Given the description of an element on the screen output the (x, y) to click on. 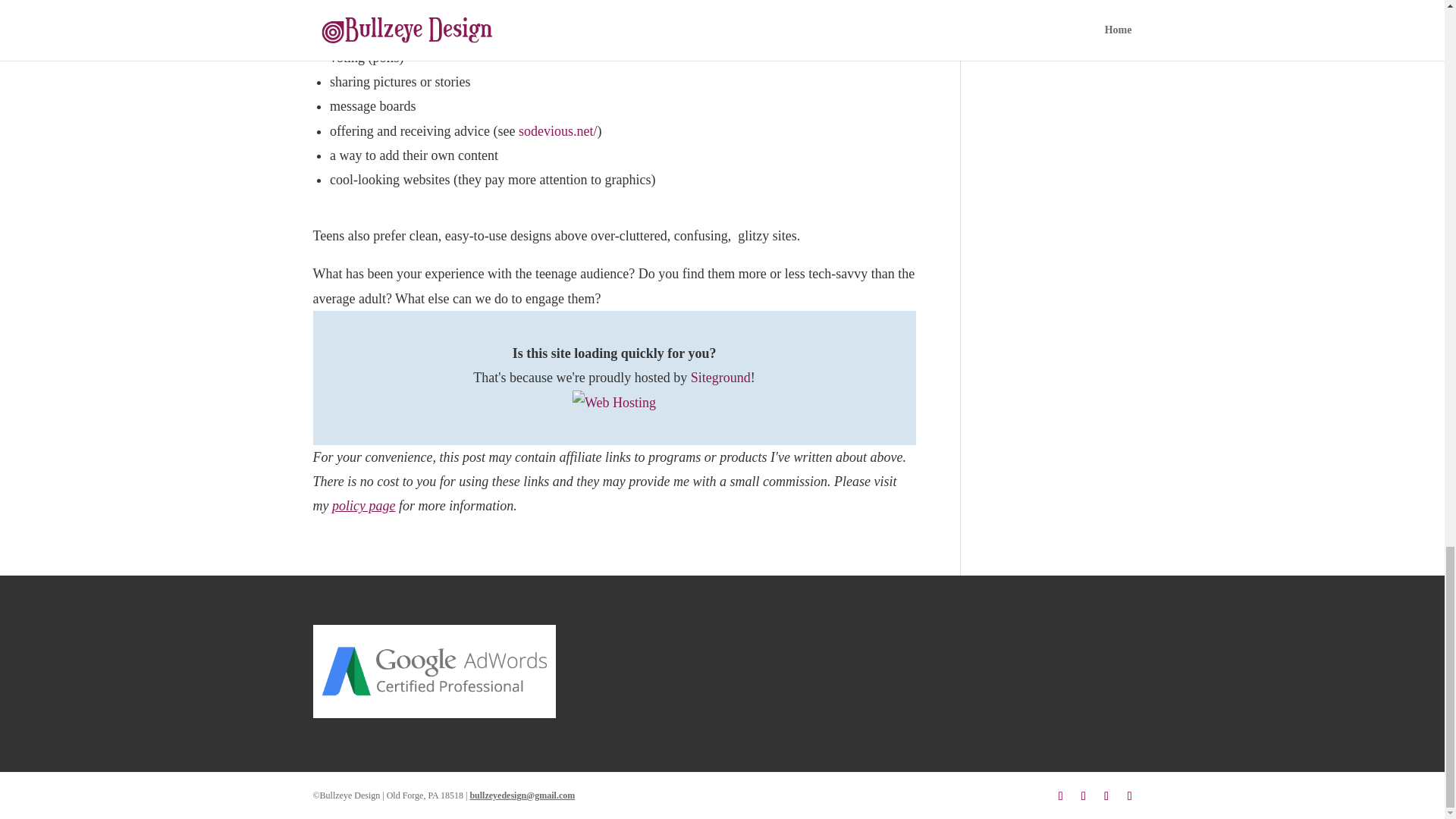
So Devious (557, 130)
policy page (362, 505)
Siteground (720, 377)
